Given the description of an element on the screen output the (x, y) to click on. 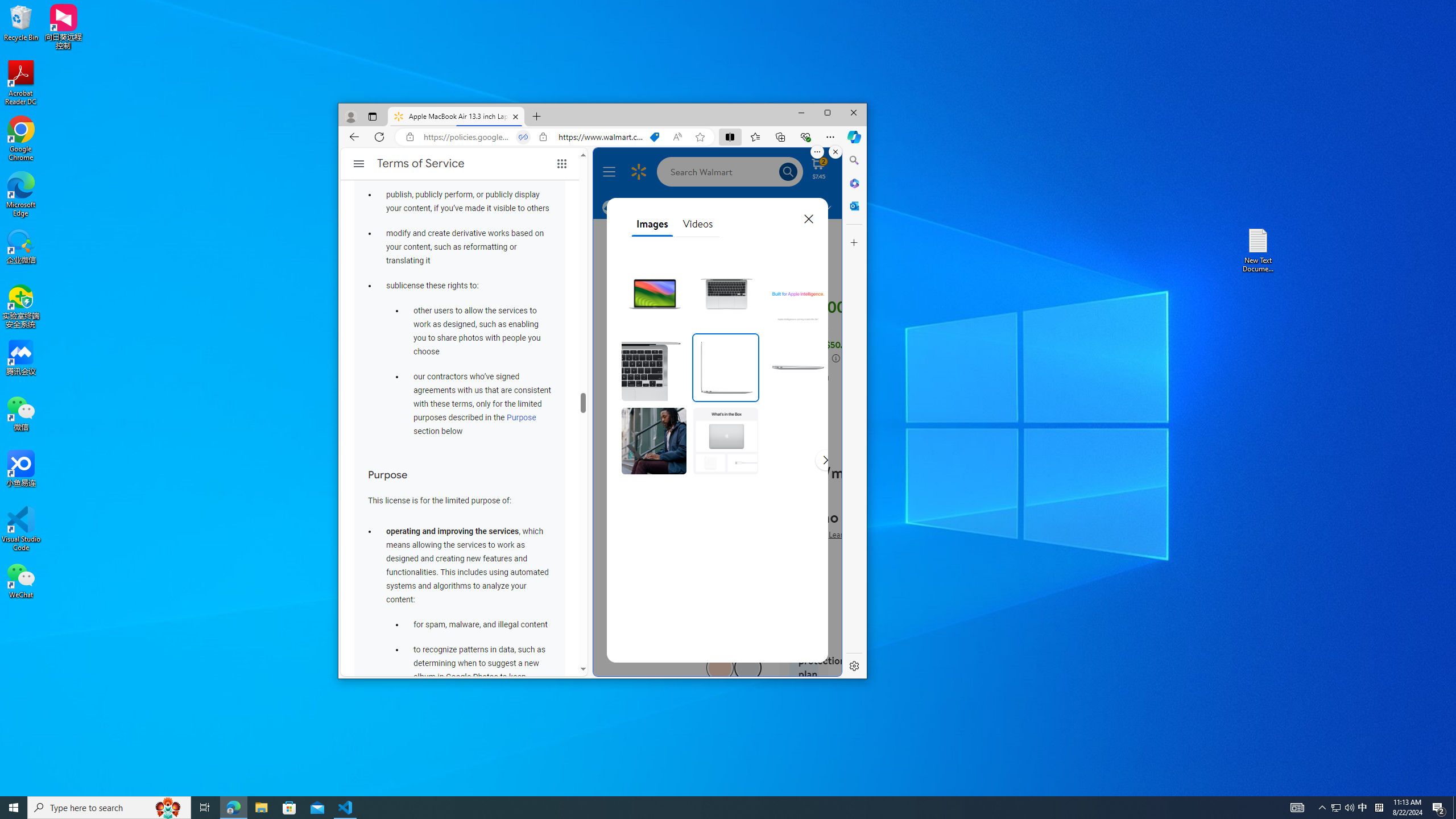
WeChat (21, 580)
Images (651, 224)
New Text Document (2) (1258, 250)
